Given the description of an element on the screen output the (x, y) to click on. 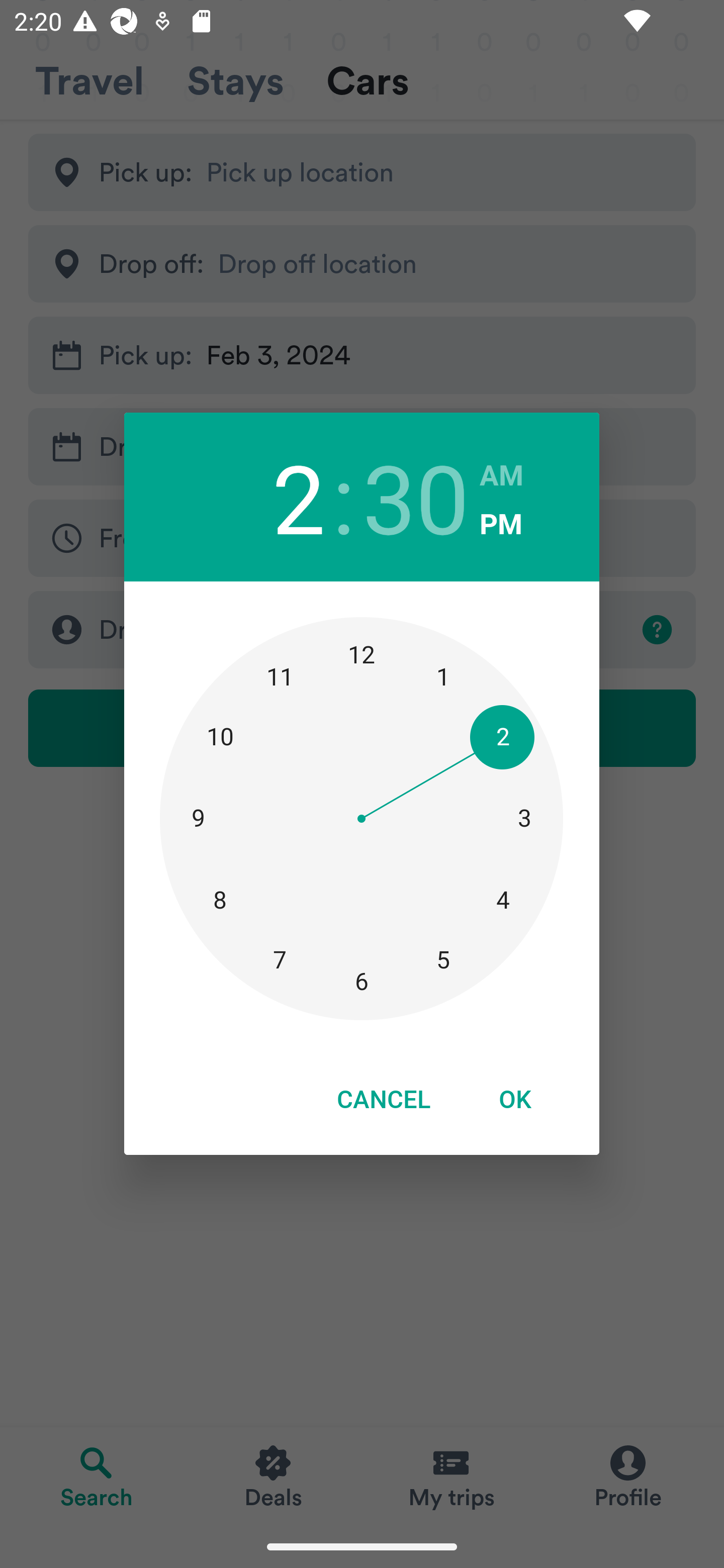
2 (298, 496)
30 (415, 496)
AM PM (501, 498)
CANCEL (383, 1098)
OK (514, 1098)
